Given the description of an element on the screen output the (x, y) to click on. 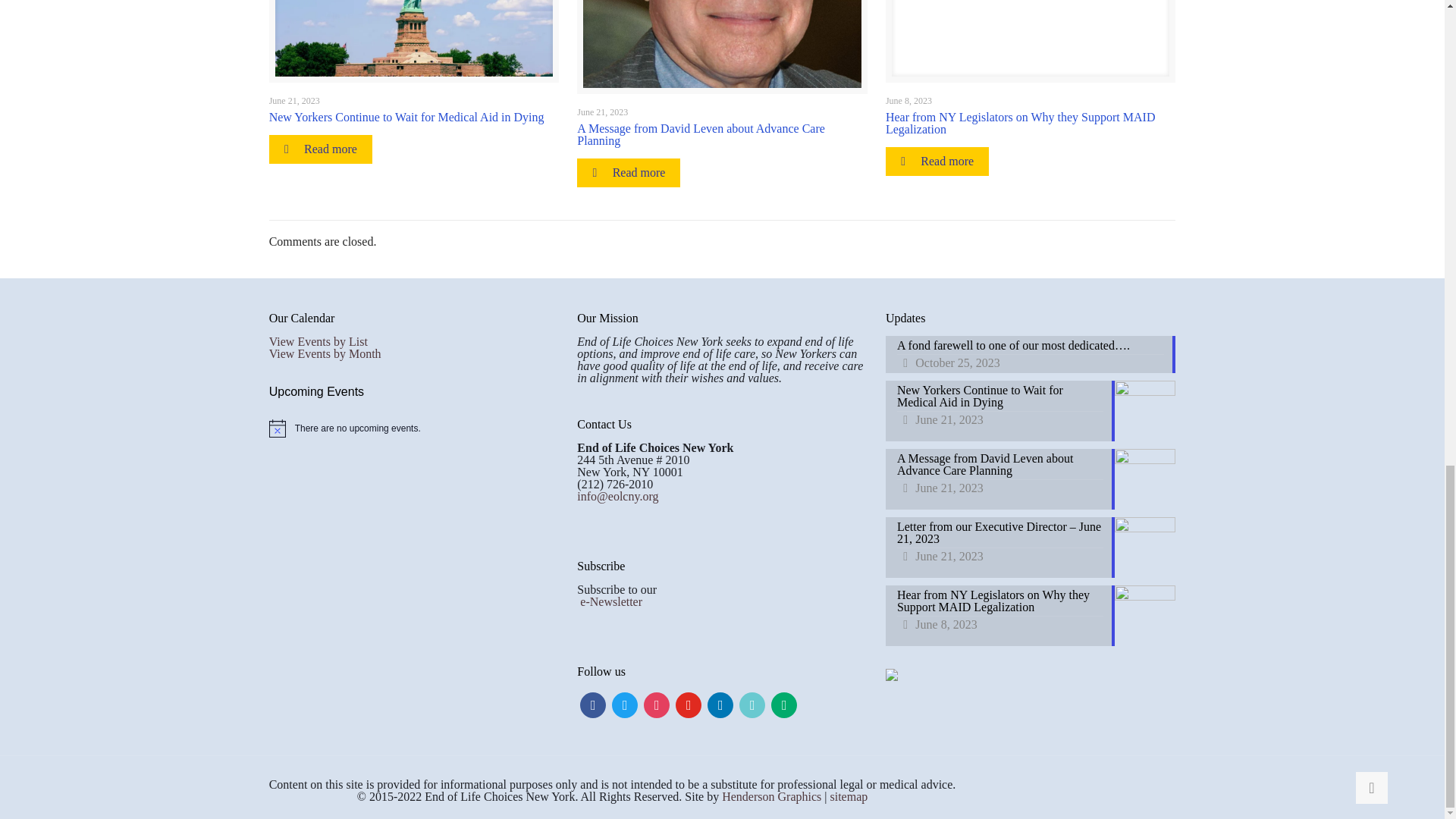
Default Label (783, 703)
Instagram (656, 703)
Default Label (720, 703)
Default Label (688, 703)
Facebook (592, 703)
Twitter (624, 703)
Default Label (752, 703)
